Given the description of an element on the screen output the (x, y) to click on. 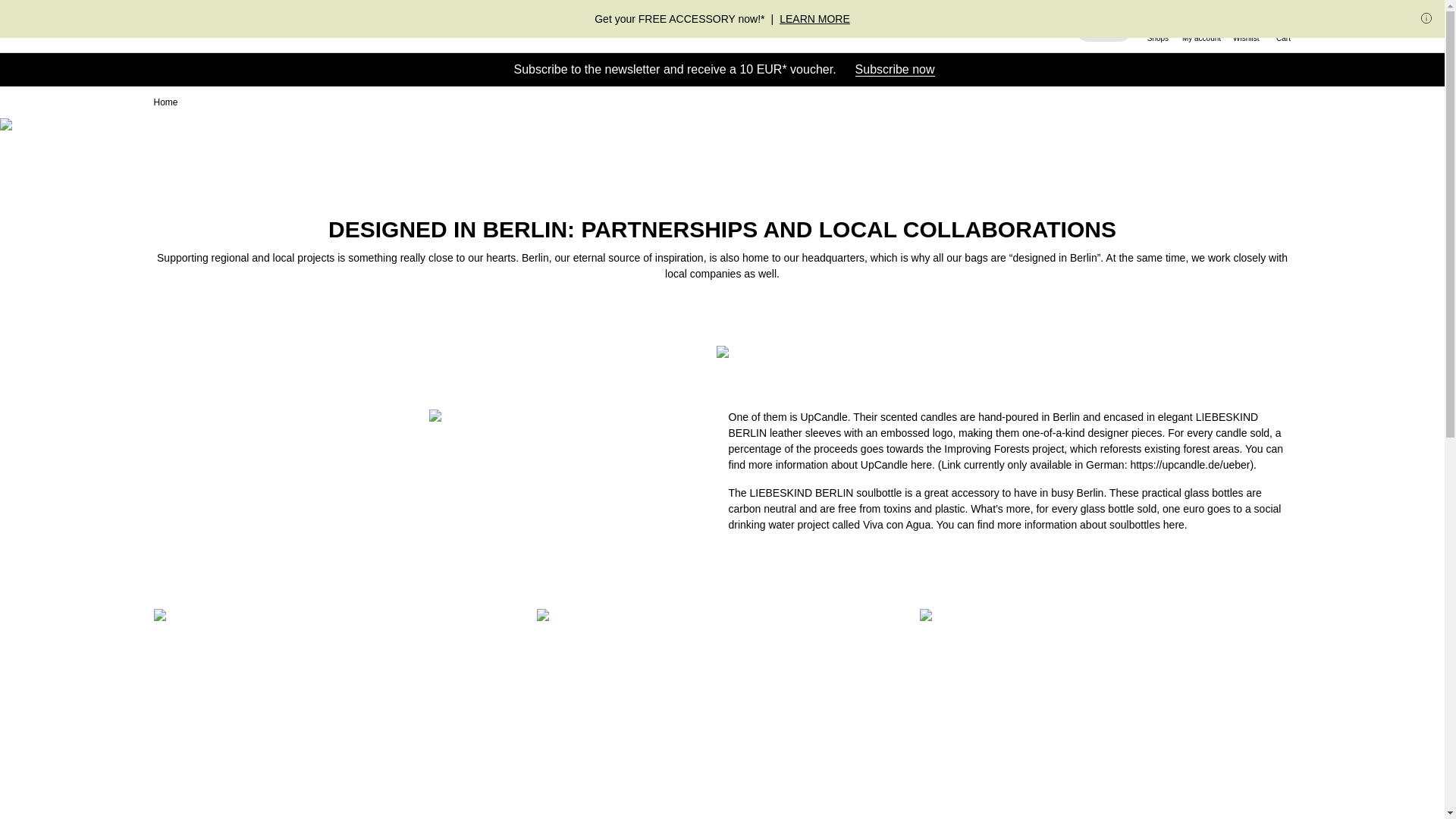
Your search term... (1104, 25)
Home page (209, 25)
LEARN MORE (814, 19)
Wishlist (1246, 26)
Cart (1283, 26)
ACCESSORIES (690, 26)
My account (1201, 26)
Shops (1158, 26)
PURSES (594, 26)
NEW IN (449, 26)
